Given the description of an element on the screen output the (x, y) to click on. 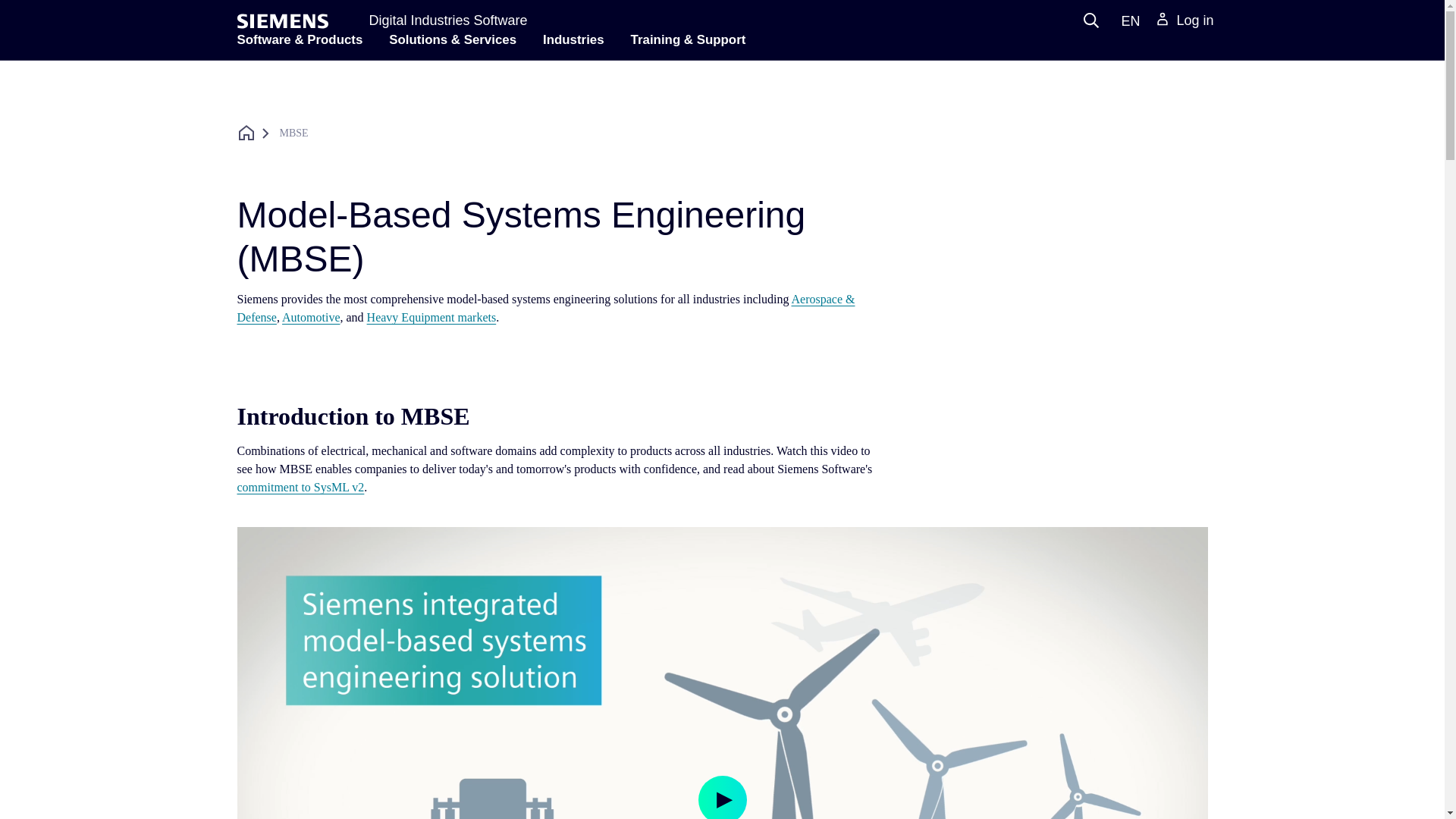
search (1091, 20)
Digital Industries Software (447, 20)
Siemens (281, 20)
